Given the description of an element on the screen output the (x, y) to click on. 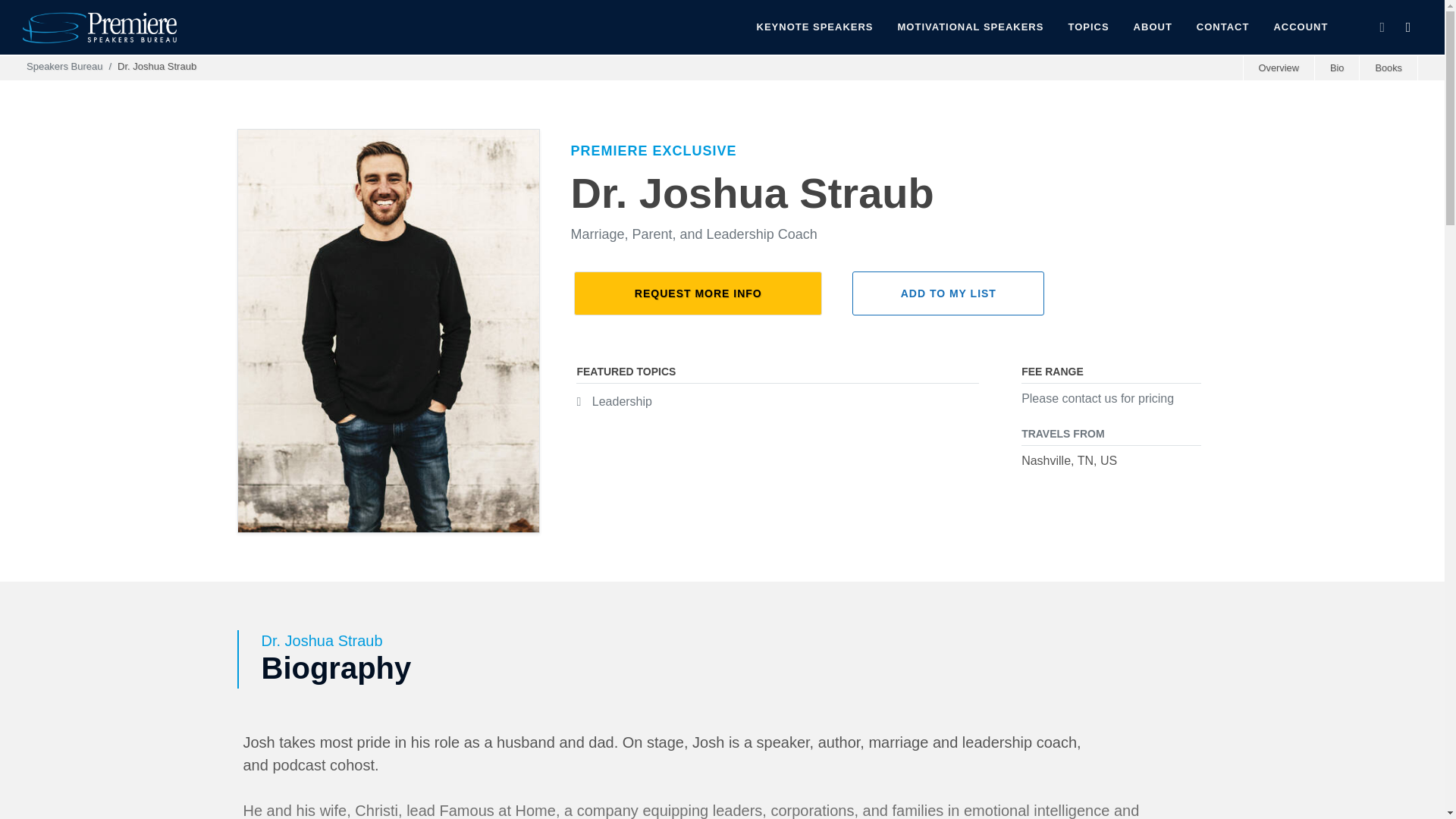
ABOUT (1152, 27)
ACCOUNT (1300, 27)
CONTACT (1222, 27)
MOTIVATIONAL SPEAKERS (970, 27)
KEYNOTE SPEAKERS (815, 27)
TOPICS (1088, 27)
Bio (1336, 68)
Overview (1278, 68)
REQUEST MORE INFO (697, 293)
Books (1387, 68)
Speakers Bureau (63, 66)
